Given the description of an element on the screen output the (x, y) to click on. 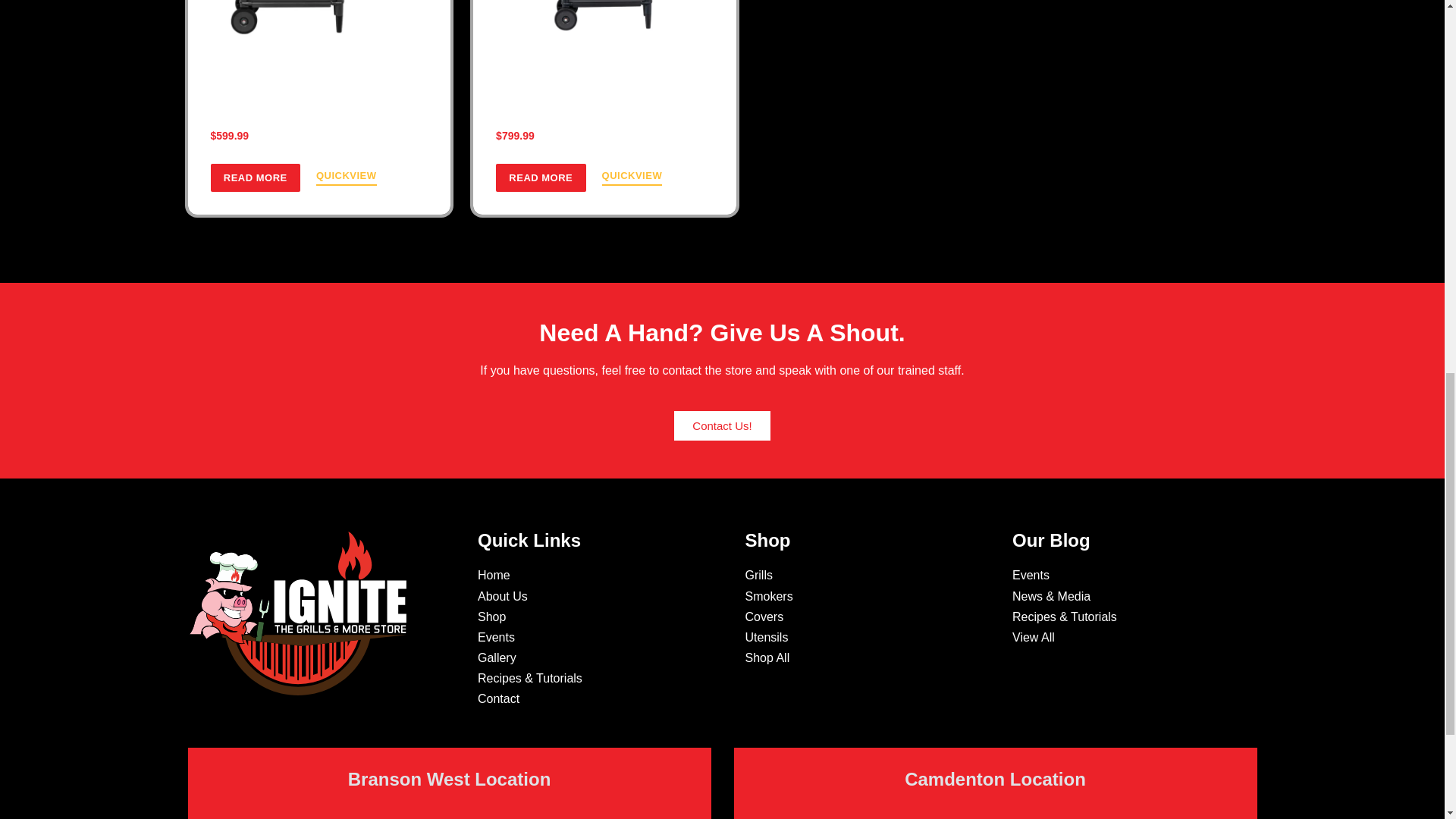
QUICKVIEW (346, 177)
QUICKVIEW (632, 177)
QUICKVIEW (346, 177)
ALL NEW PK ORIGINAL GRILL AND SMOKER (318, 97)
READ MORE (255, 177)
